Given the description of an element on the screen output the (x, y) to click on. 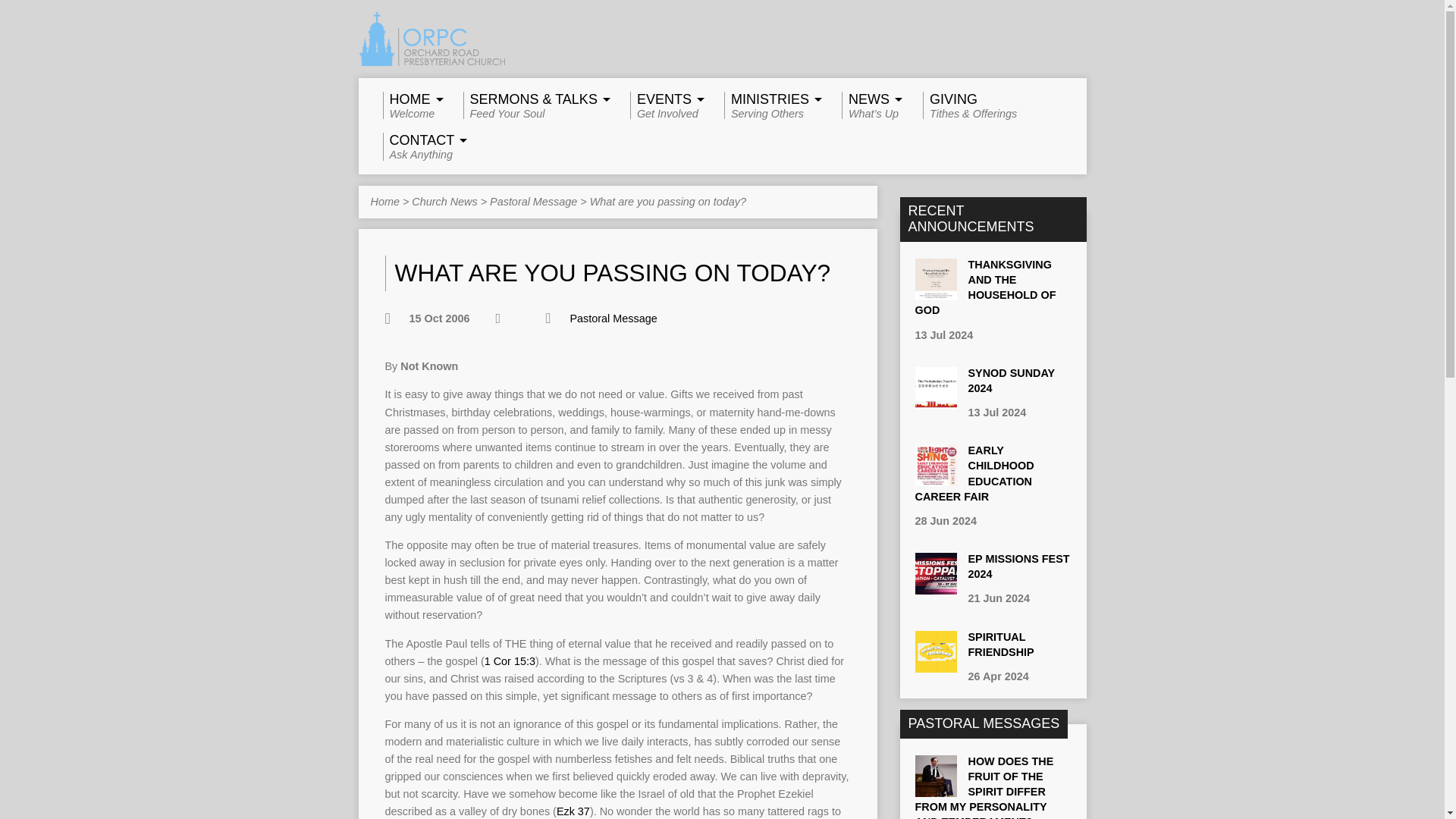
Thanksgiving and the Household of God (935, 292)
Thanksgiving and the Household of God (984, 287)
EP Missions Fest 2024 (935, 586)
Synod Sunday 2024 (769, 104)
Spiritual Friendship (935, 400)
EP Missions Fest 2024 (935, 664)
Early Childhood Education Career Fair (1018, 565)
Early Childhood Education Career Fair (935, 478)
Spiritual Friendship (665, 104)
Synod Sunday 2024 (973, 473)
